Given the description of an element on the screen output the (x, y) to click on. 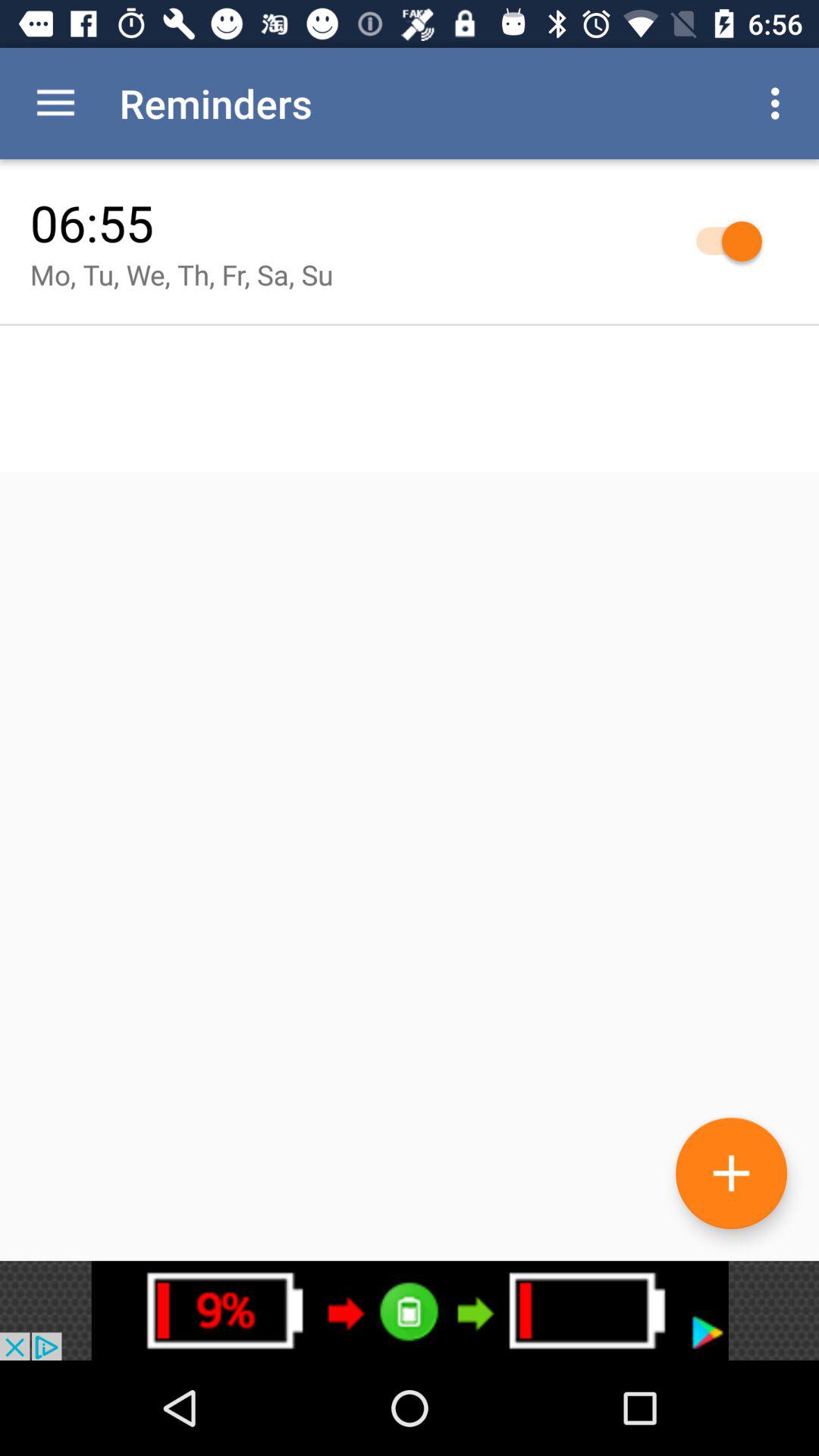
selection button (721, 240)
